Given the description of an element on the screen output the (x, y) to click on. 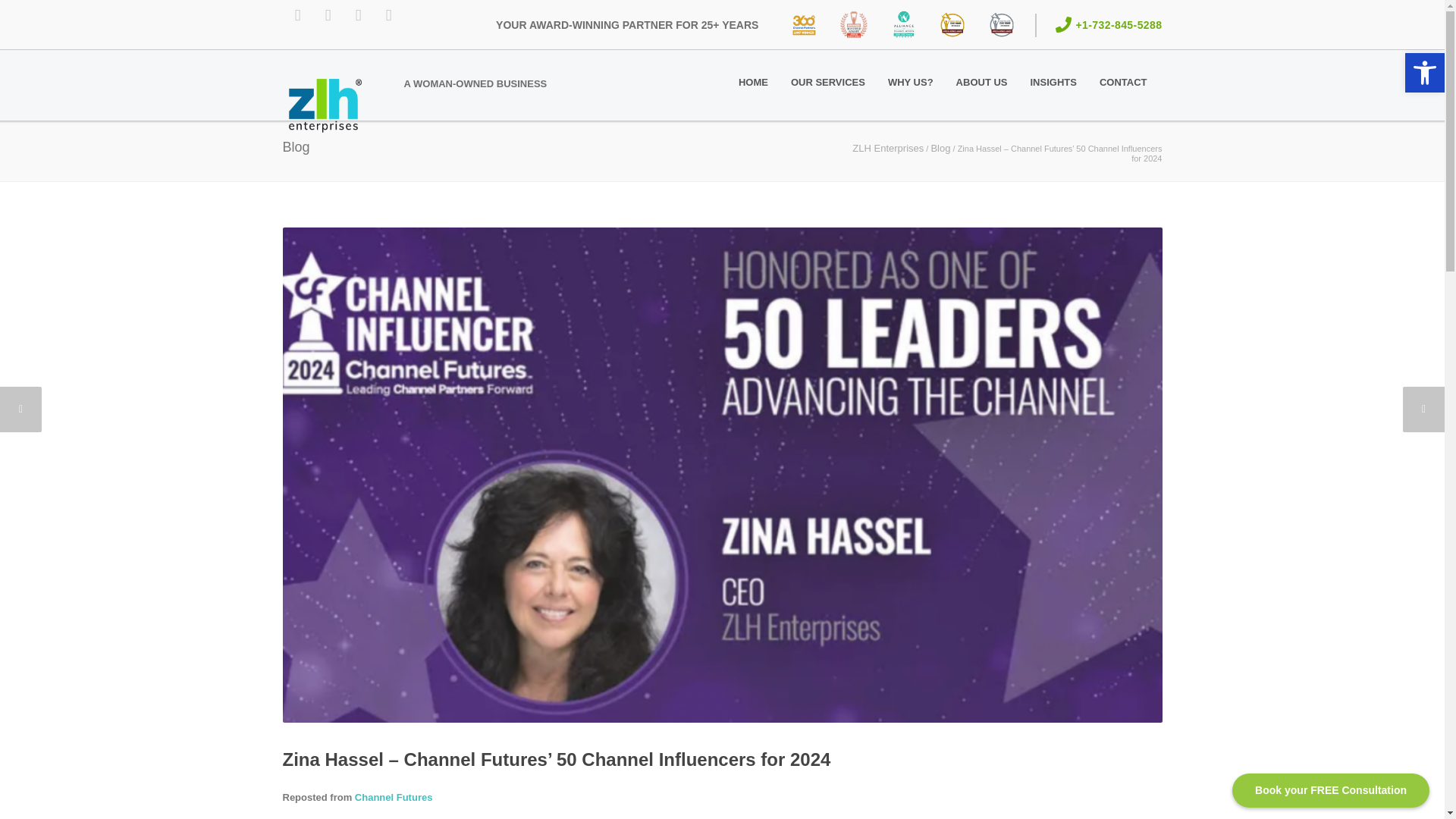
Twitter (387, 15)
HOME (752, 82)
WHY US? (910, 82)
LinkedIn (357, 15)
CONTACT (1122, 82)
OUR SERVICES (827, 82)
Facebook (297, 15)
ABOUT US (981, 82)
INSIGHTS (1053, 82)
Instagram (327, 15)
